Given the description of an element on the screen output the (x, y) to click on. 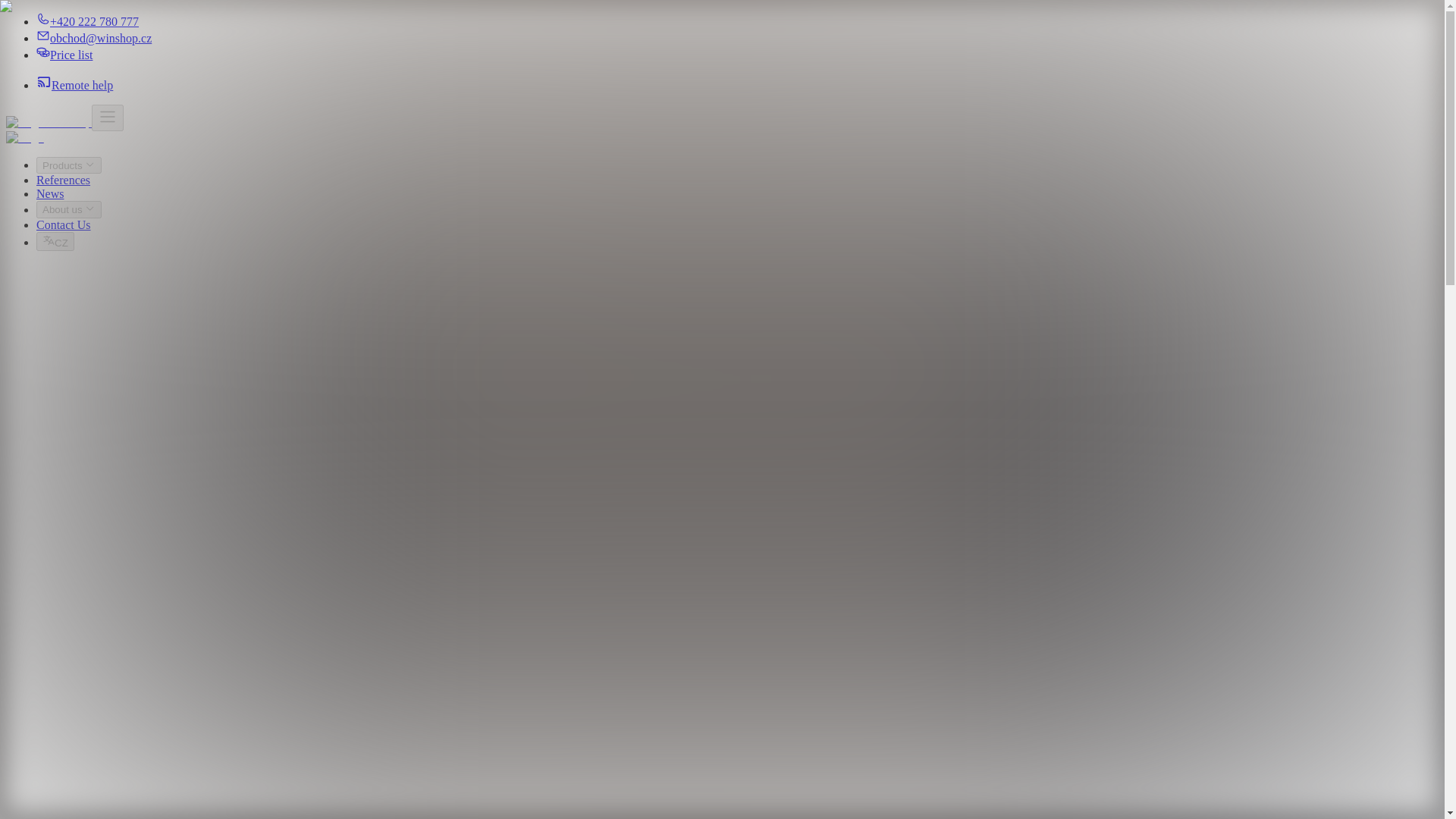
CZ (55, 240)
References (63, 179)
Products (68, 164)
Products (68, 165)
About us (68, 208)
Contact Us (63, 224)
Remote help (74, 84)
News (50, 193)
Price list (64, 54)
About us (68, 209)
